Given the description of an element on the screen output the (x, y) to click on. 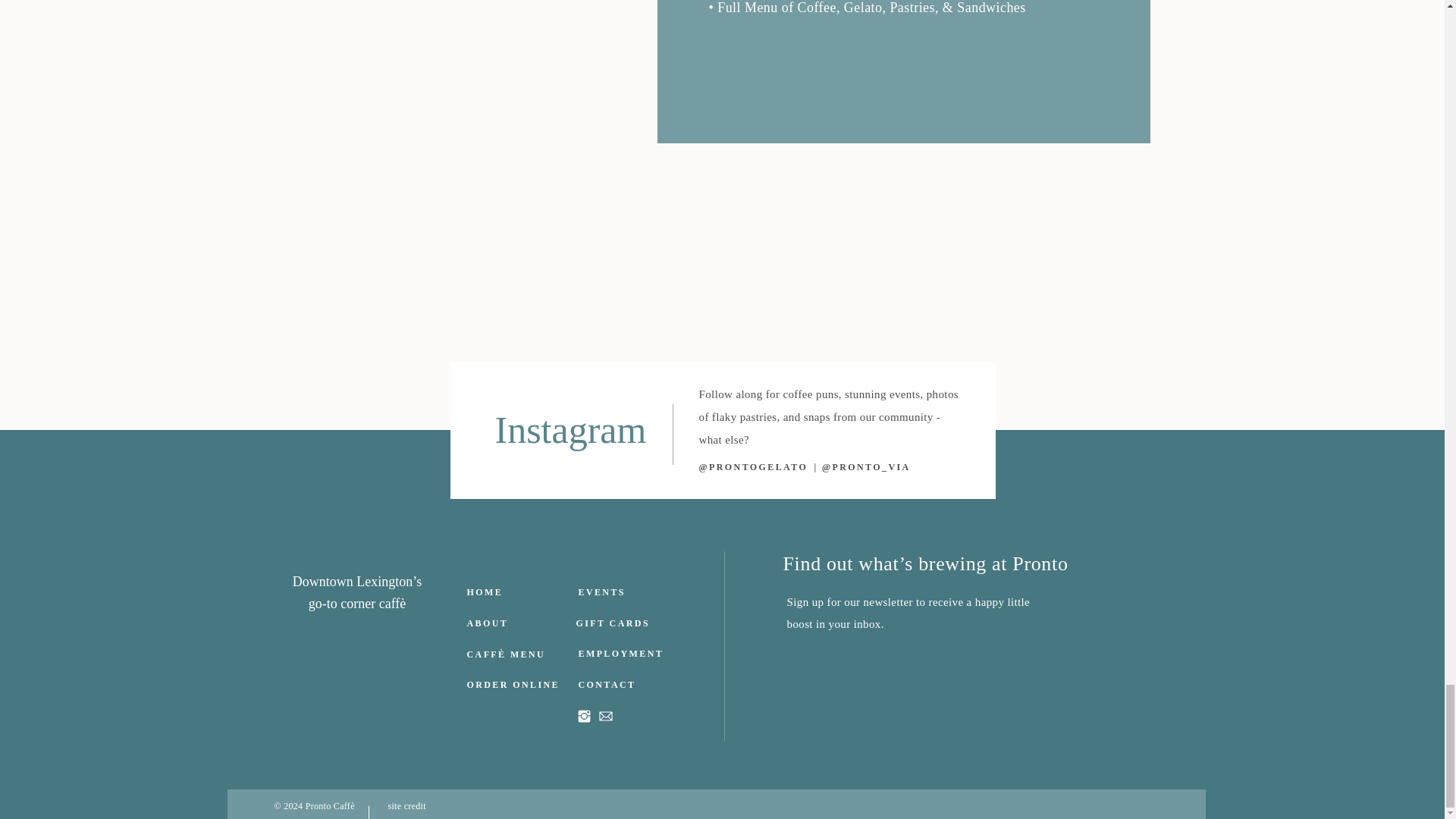
ABOUT (488, 624)
HOME (511, 593)
ORDER ONLINE (515, 686)
